Given the description of an element on the screen output the (x, y) to click on. 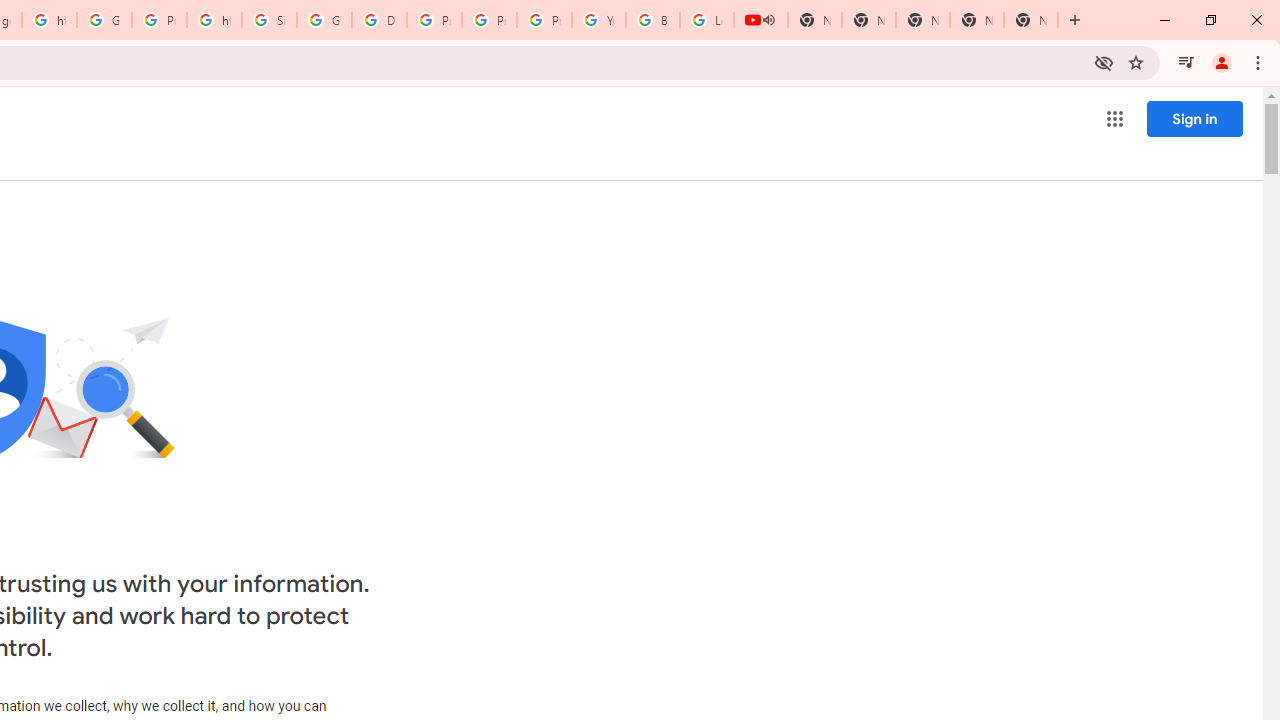
https://scholar.google.com/ (48, 20)
Privacy Help Center - Policies Help (489, 20)
YouTube (598, 20)
Mute tab (768, 20)
Sign in - Google Accounts (268, 20)
Privacy Help Center - Policies Help (434, 20)
New Tab (1030, 20)
